Given the description of an element on the screen output the (x, y) to click on. 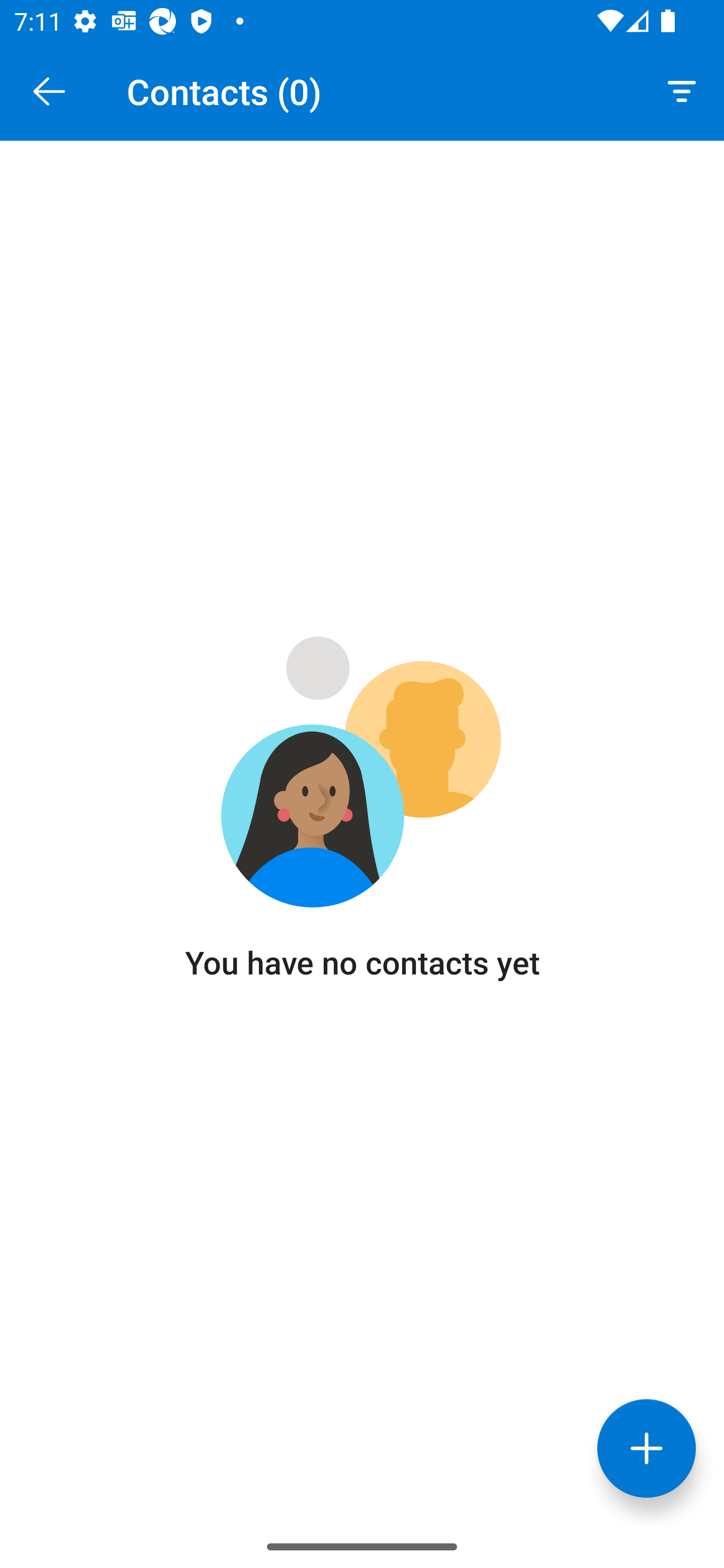
Navigate up (49, 91)
Filter (681, 90)
Add new contact (646, 1447)
